Given the description of an element on the screen output the (x, y) to click on. 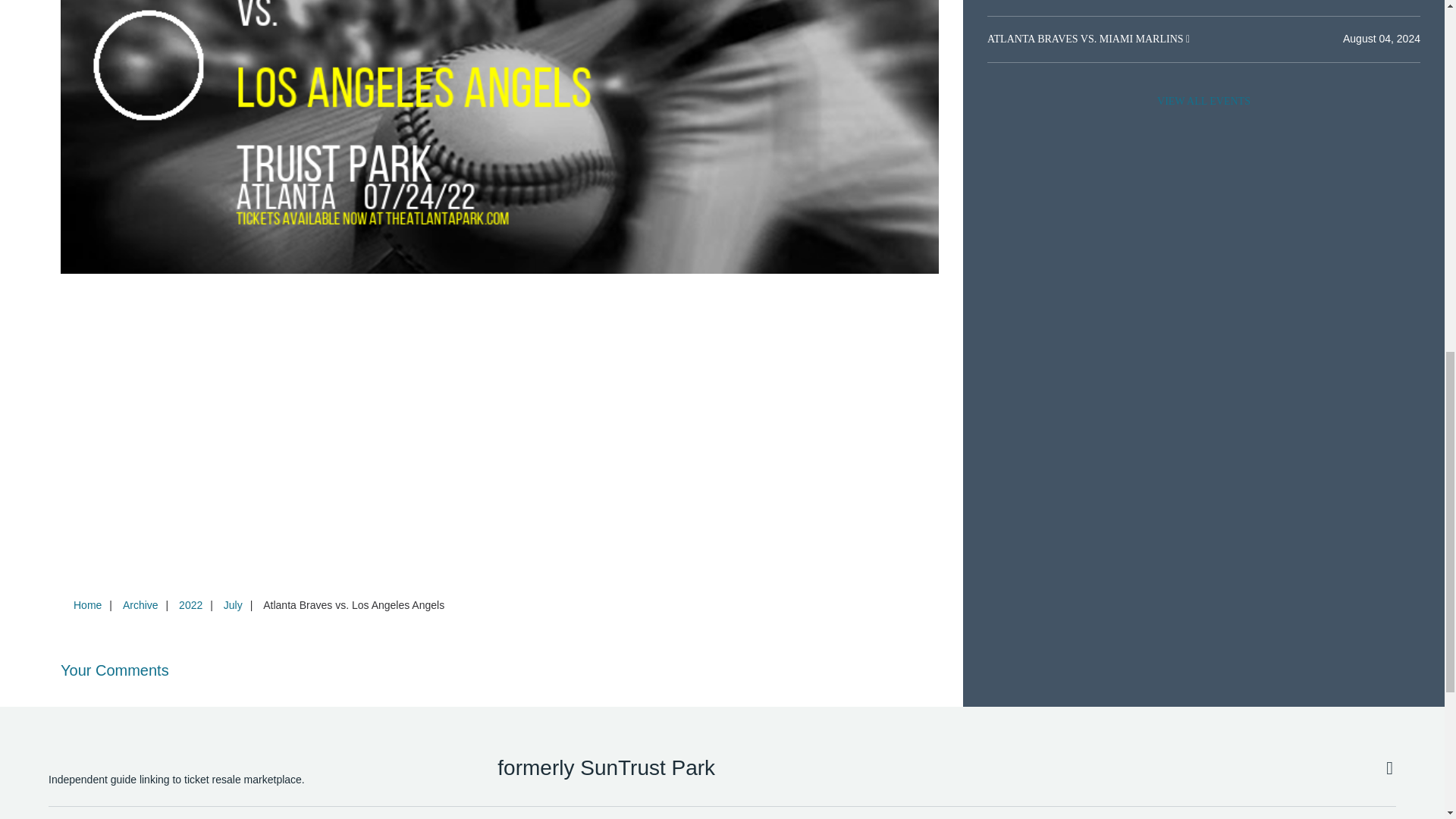
VIEW ALL EVENTS (1203, 101)
Archive (140, 604)
Home (87, 604)
July (232, 604)
2022 (190, 604)
